Given the description of an element on the screen output the (x, y) to click on. 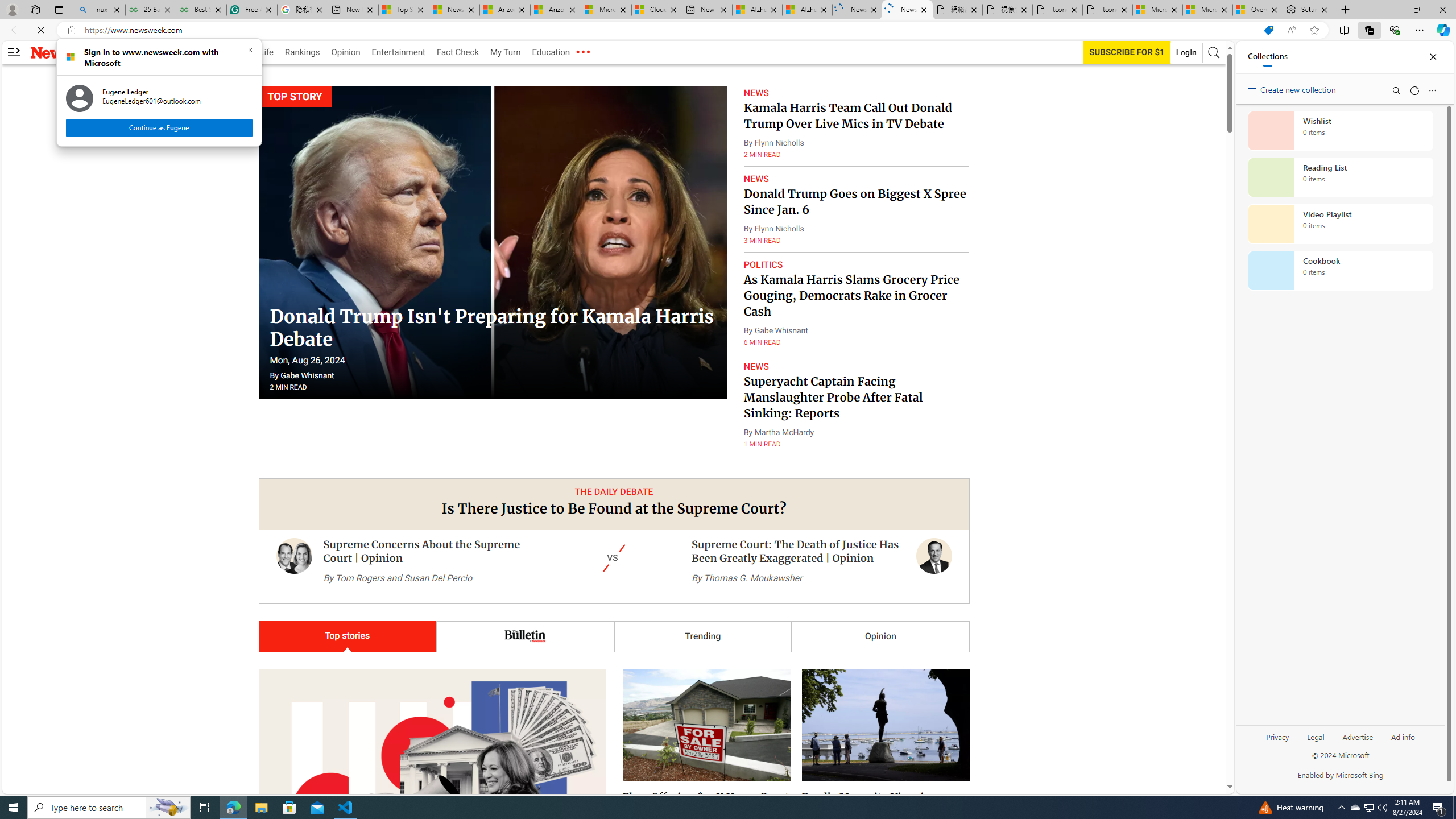
Overview (1257, 9)
